Given the description of an element on the screen output the (x, y) to click on. 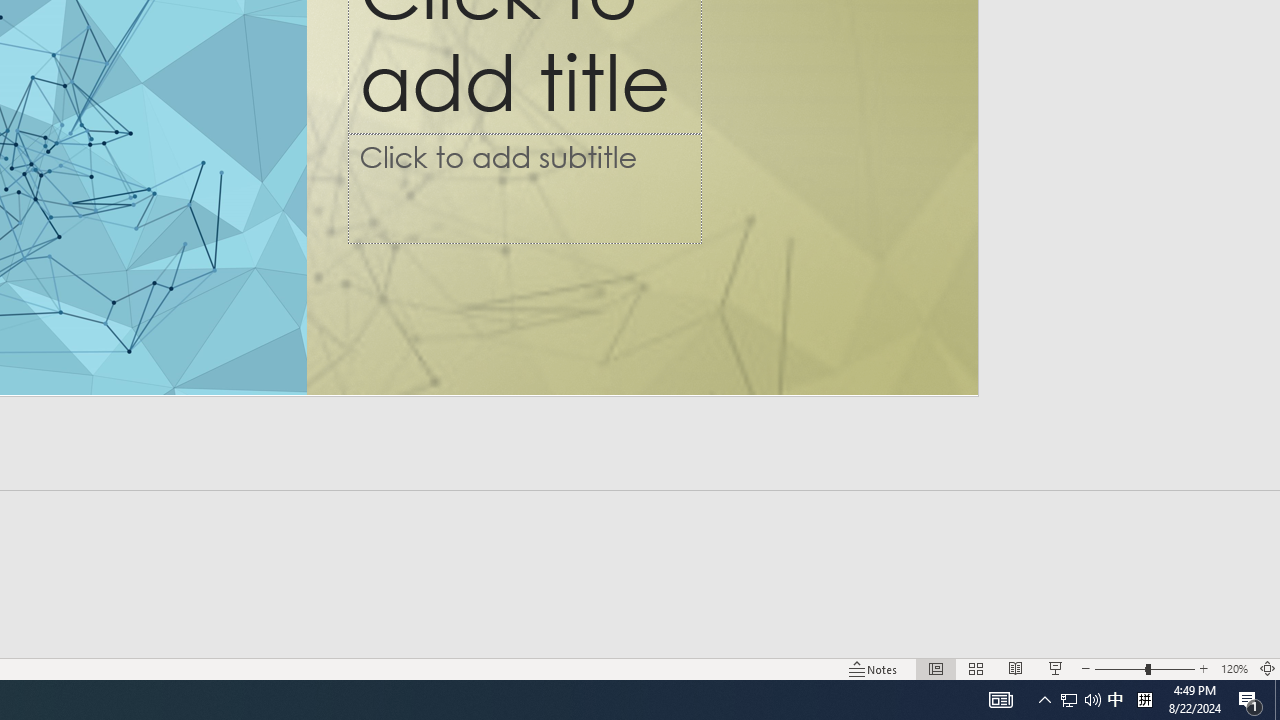
Zoom 120% (1234, 668)
